Given the description of an element on the screen output the (x, y) to click on. 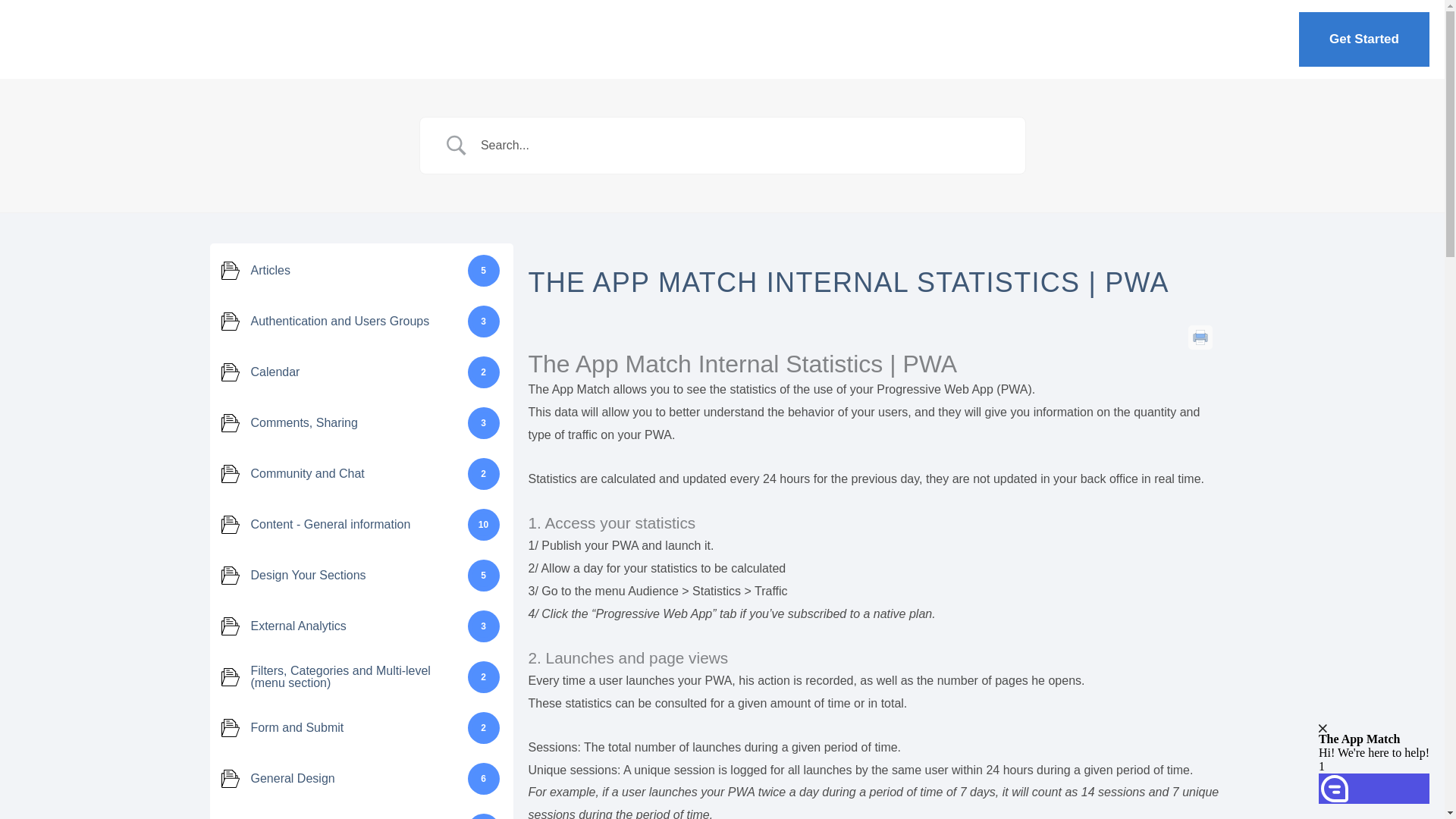
Get Started (1363, 39)
Blog (1247, 38)
Home (1081, 38)
Pricing (1165, 38)
Front Chat (1326, 737)
